Given the description of an element on the screen output the (x, y) to click on. 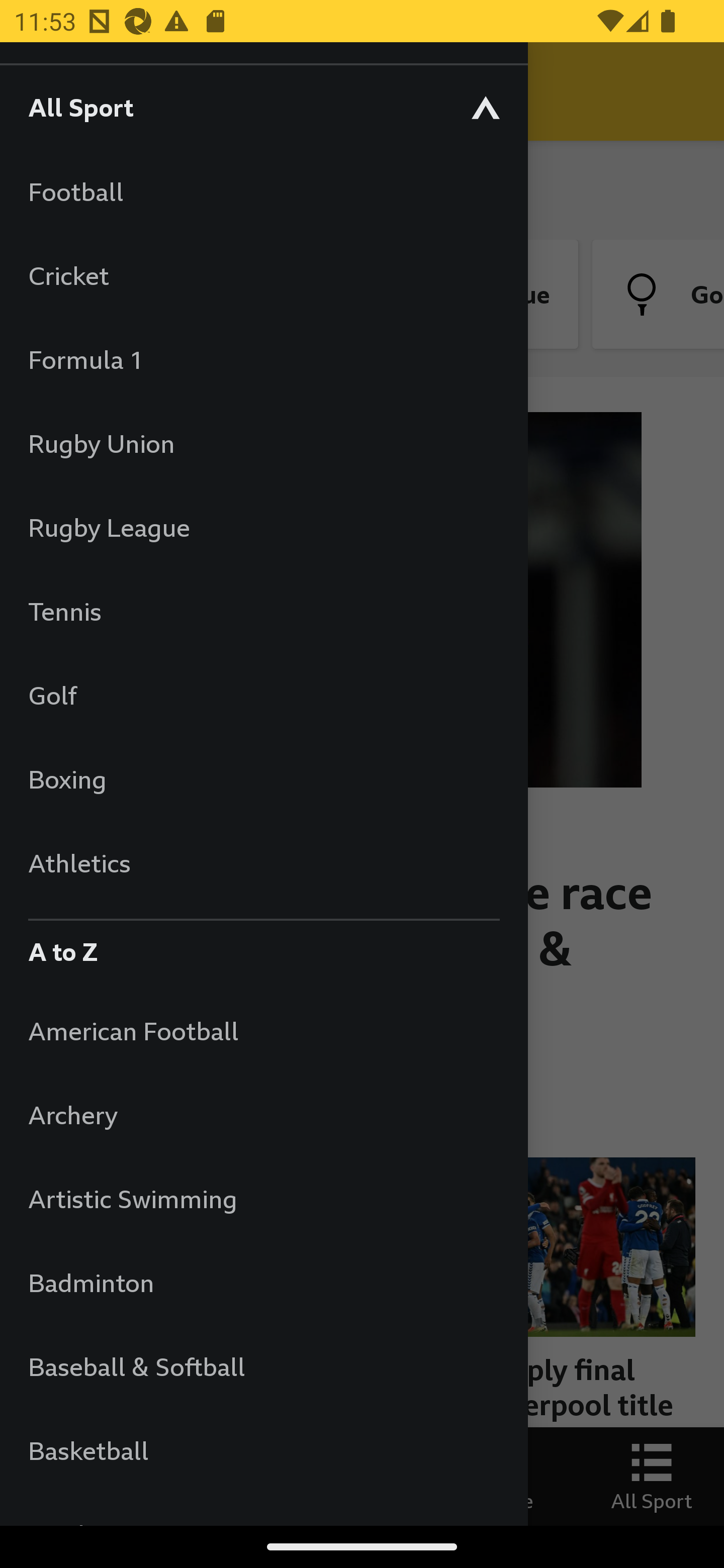
All Sport (263, 106)
Football (263, 190)
Cricket (263, 275)
Formula 1 (263, 358)
Rugby Union (263, 443)
Rugby League (263, 526)
Tennis (263, 611)
Golf (263, 694)
Boxing (263, 778)
Athletics (263, 862)
A to Z (263, 946)
American Football (263, 1029)
Archery (263, 1114)
Artistic Swimming (263, 1198)
Badminton (263, 1282)
Baseball & Softball (263, 1366)
Basketball (263, 1450)
